Given the description of an element on the screen output the (x, y) to click on. 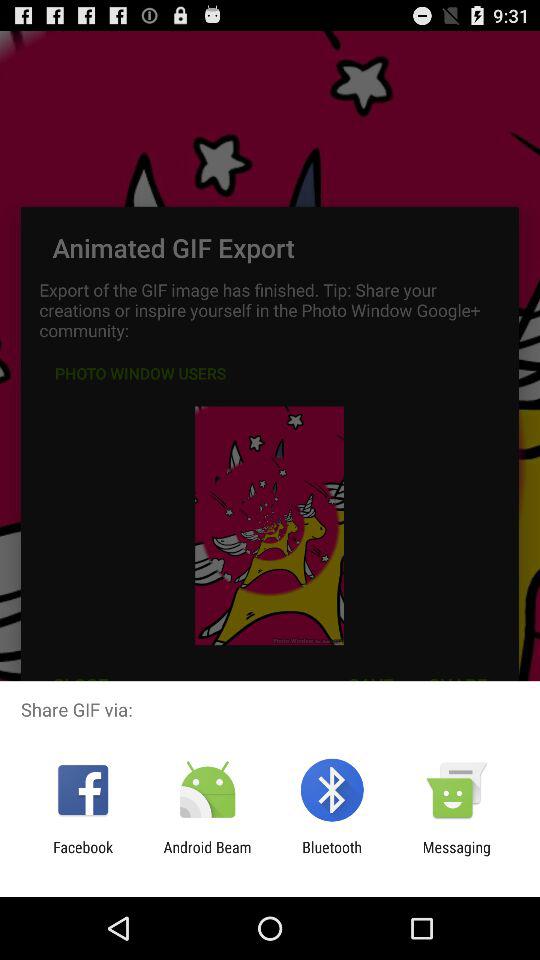
turn on item next to android beam icon (331, 856)
